Given the description of an element on the screen output the (x, y) to click on. 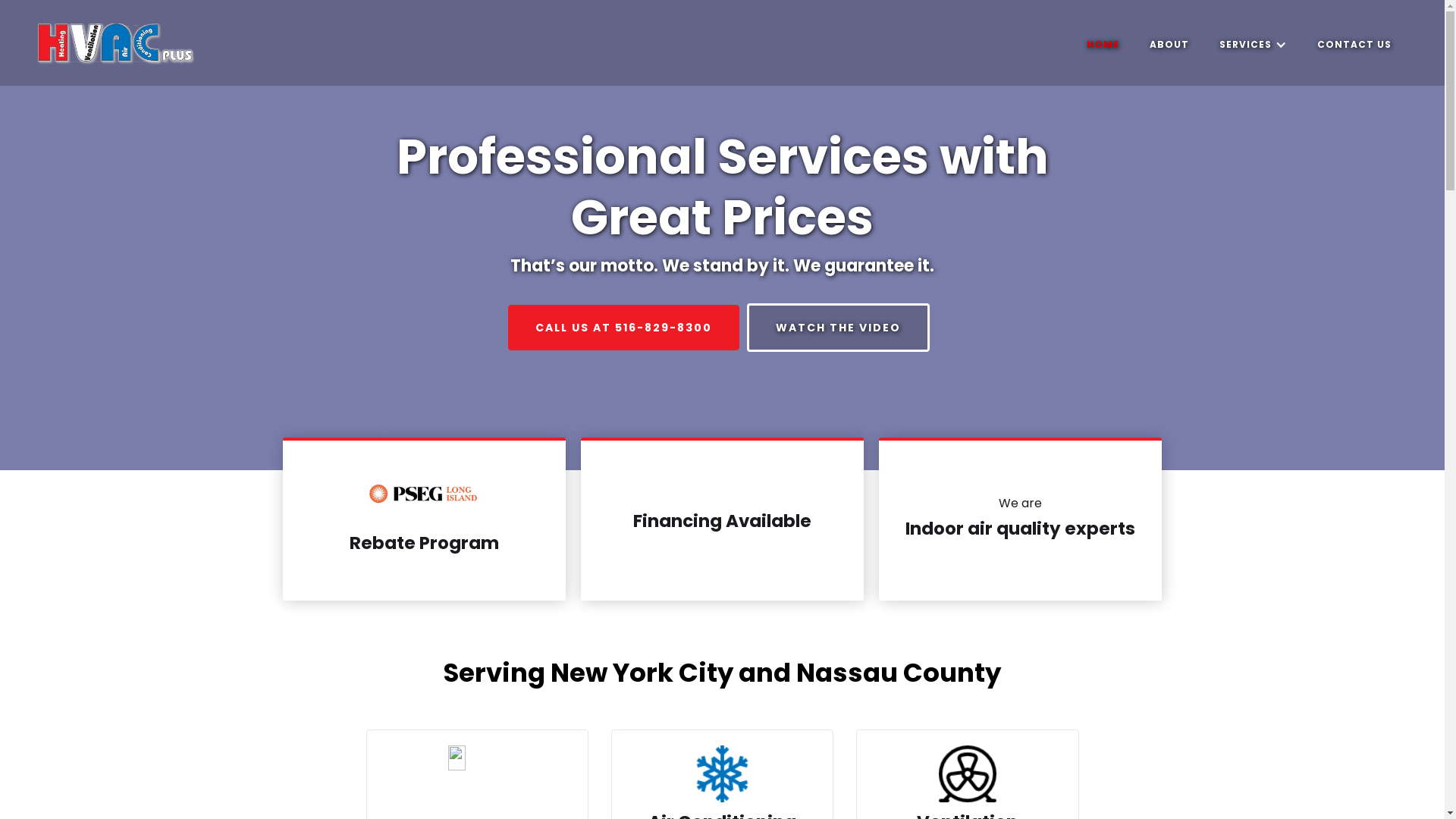
CONTACT US Element type: text (1354, 44)
HOME Element type: text (1102, 44)
CALL US AT 516-829-8300 Element type: text (623, 327)
ABOUT Element type: text (1169, 44)
WATCH THE VIDEO Element type: text (837, 327)
